Given the description of an element on the screen output the (x, y) to click on. 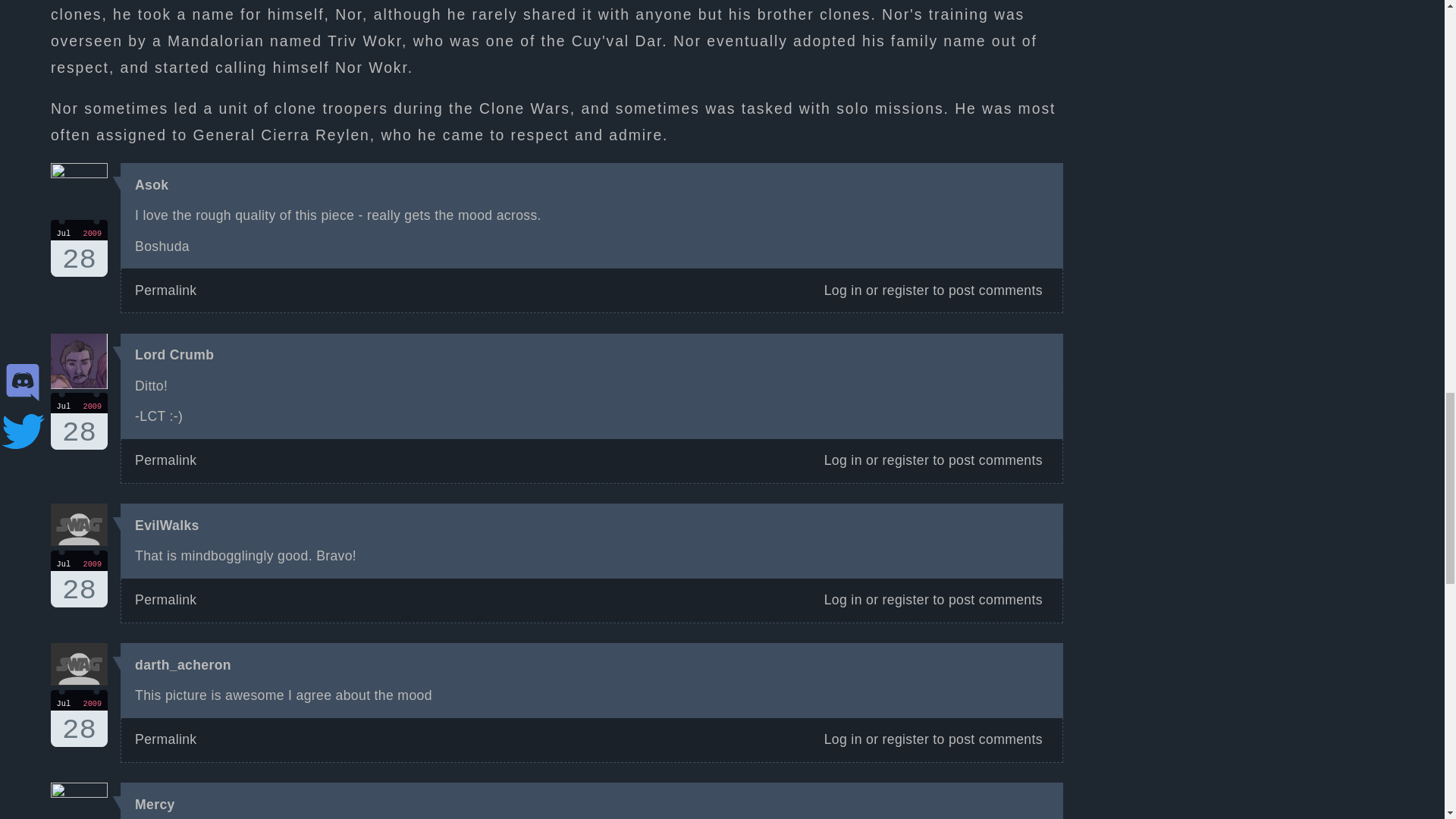
register (905, 459)
View user profile. (154, 804)
register (905, 739)
View user profile. (183, 664)
EvilWalks (78, 421)
register (167, 525)
Permalink (905, 290)
Permalink (165, 739)
Log in (165, 290)
Permalink (842, 459)
Log in (165, 459)
Asok (842, 739)
Log in (78, 718)
